Given the description of an element on the screen output the (x, y) to click on. 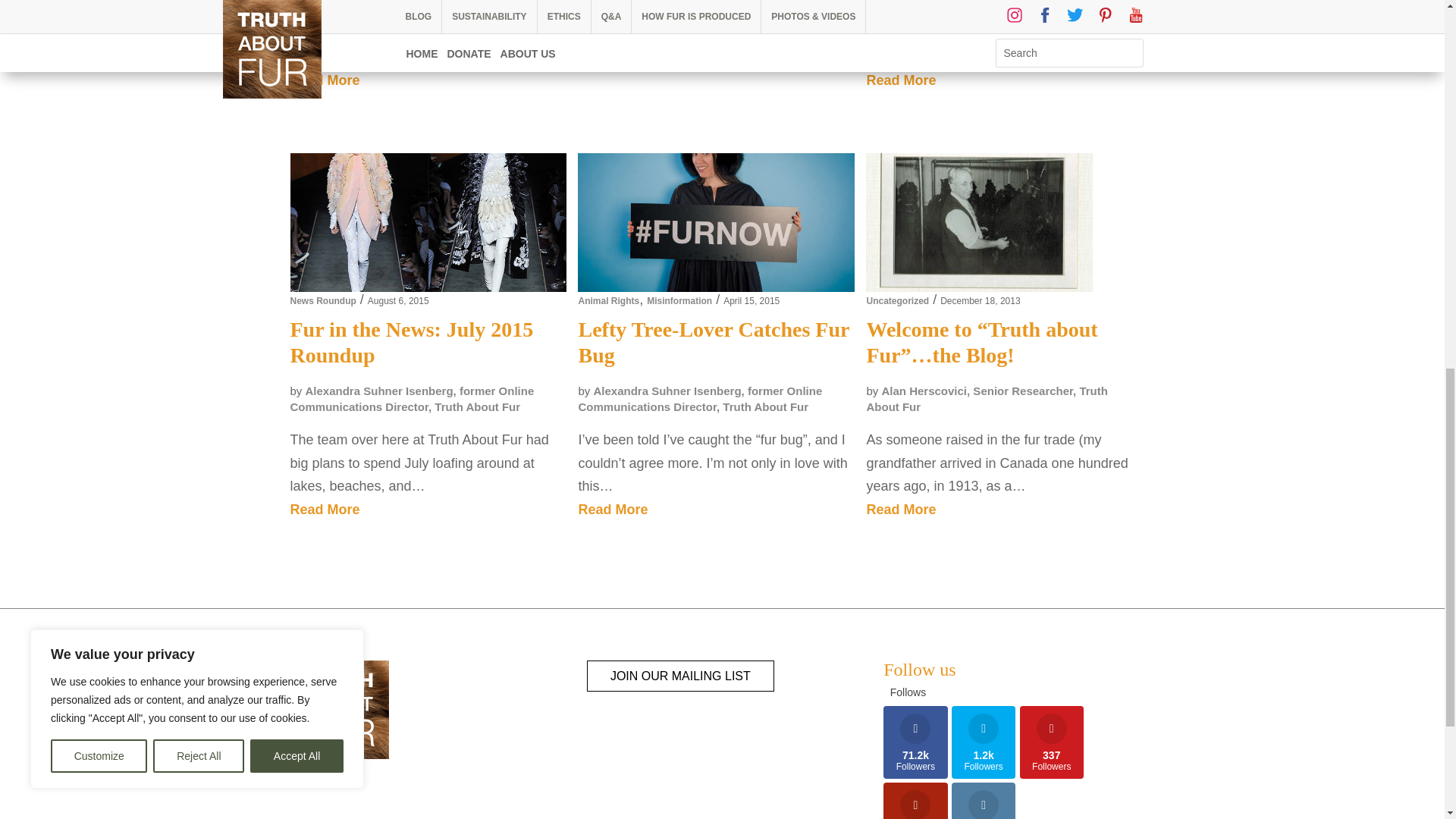
Lefty Tree-Lover Catches Fur Bug (716, 221)
Fur in the News: July 2015 Roundup (427, 222)
